Given the description of an element on the screen output the (x, y) to click on. 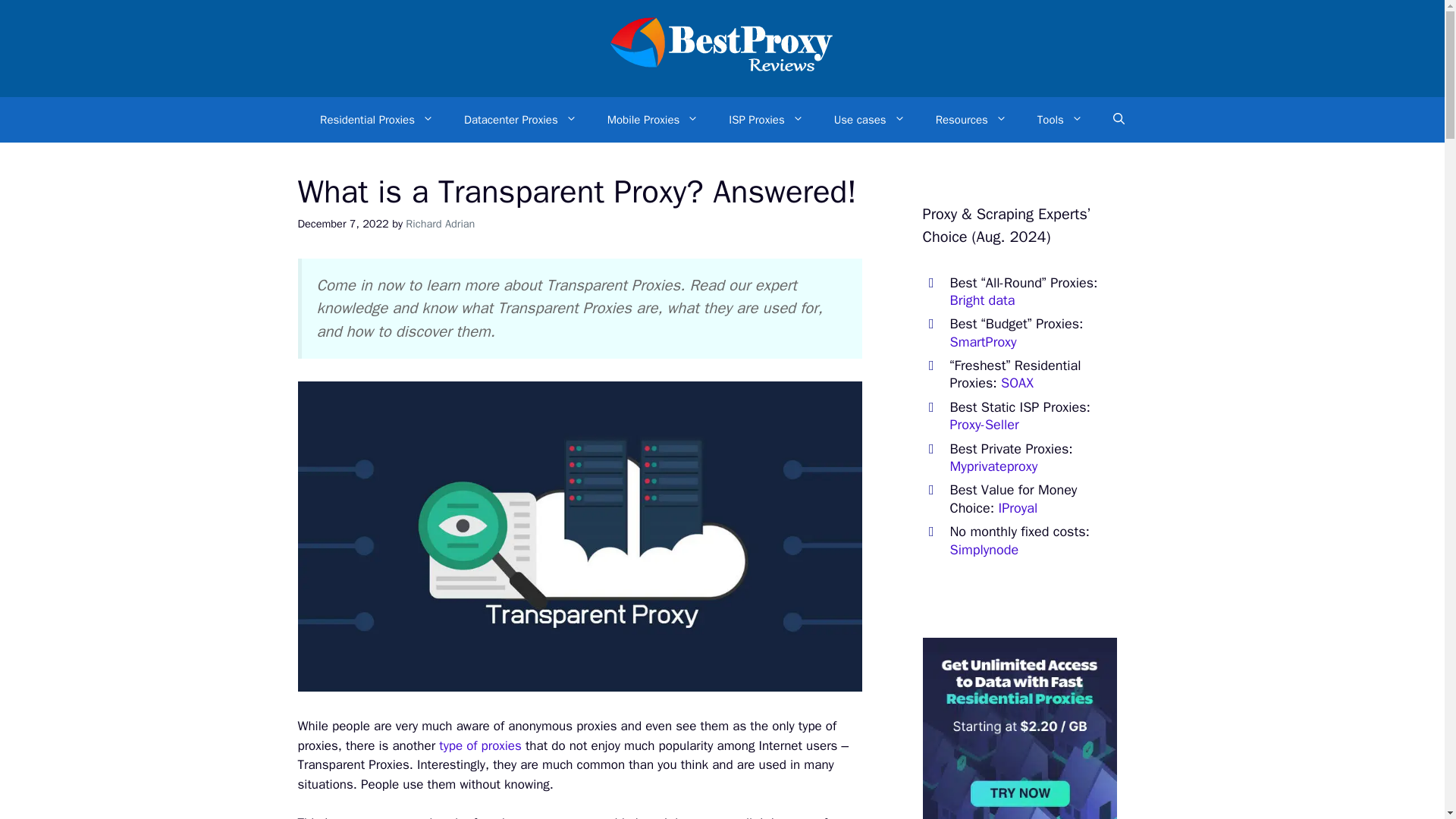
Use cases (869, 119)
Best Proxy Review (721, 71)
Datacenter Proxies (520, 119)
Mobile Proxies (653, 119)
View all posts by Richard Adrian (440, 223)
ISP Proxies (765, 119)
Best Proxy Review (721, 47)
Residential Proxies (376, 119)
